Given the description of an element on the screen output the (x, y) to click on. 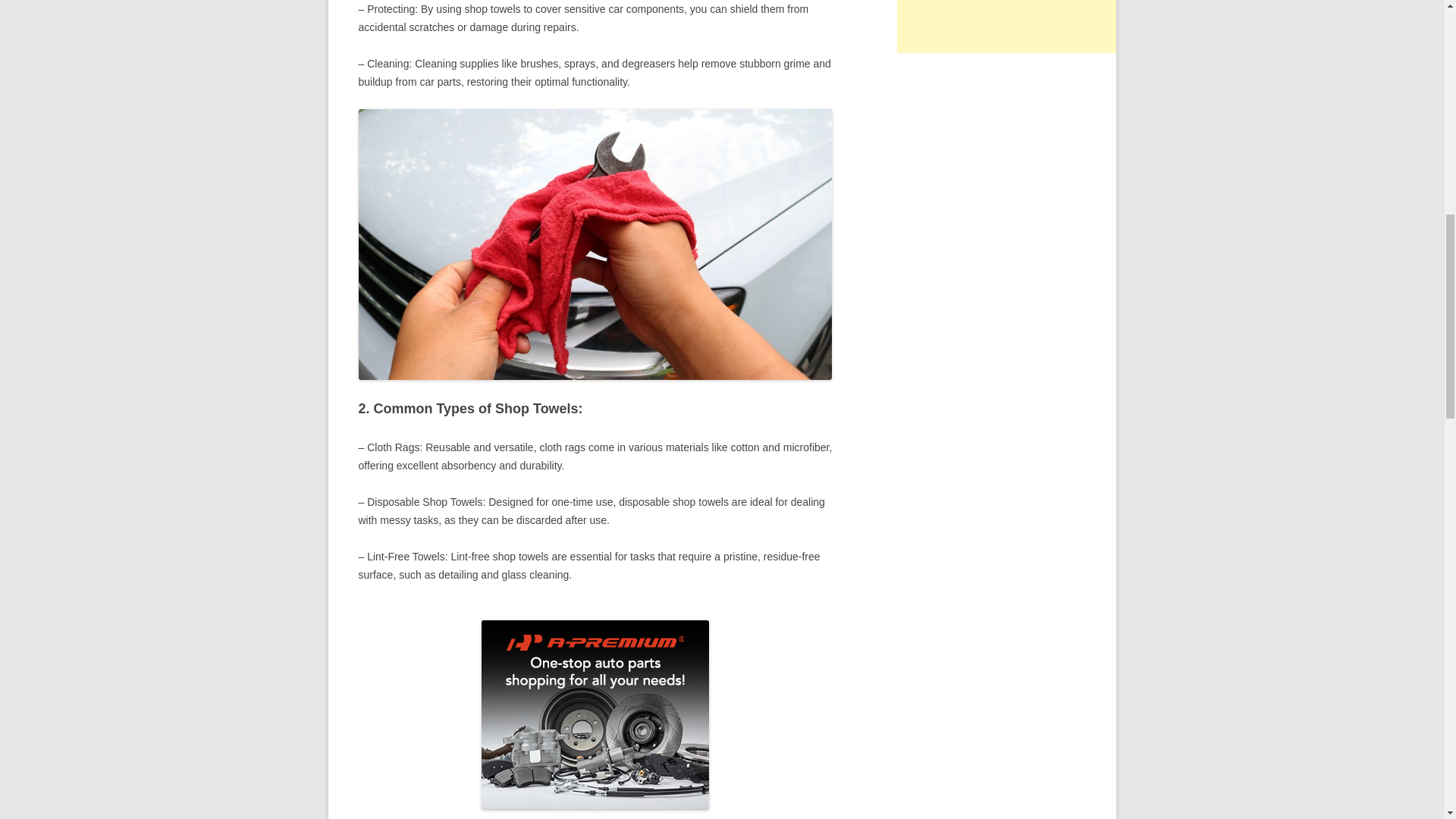
Advertisement (1010, 26)
